Given the description of an element on the screen output the (x, y) to click on. 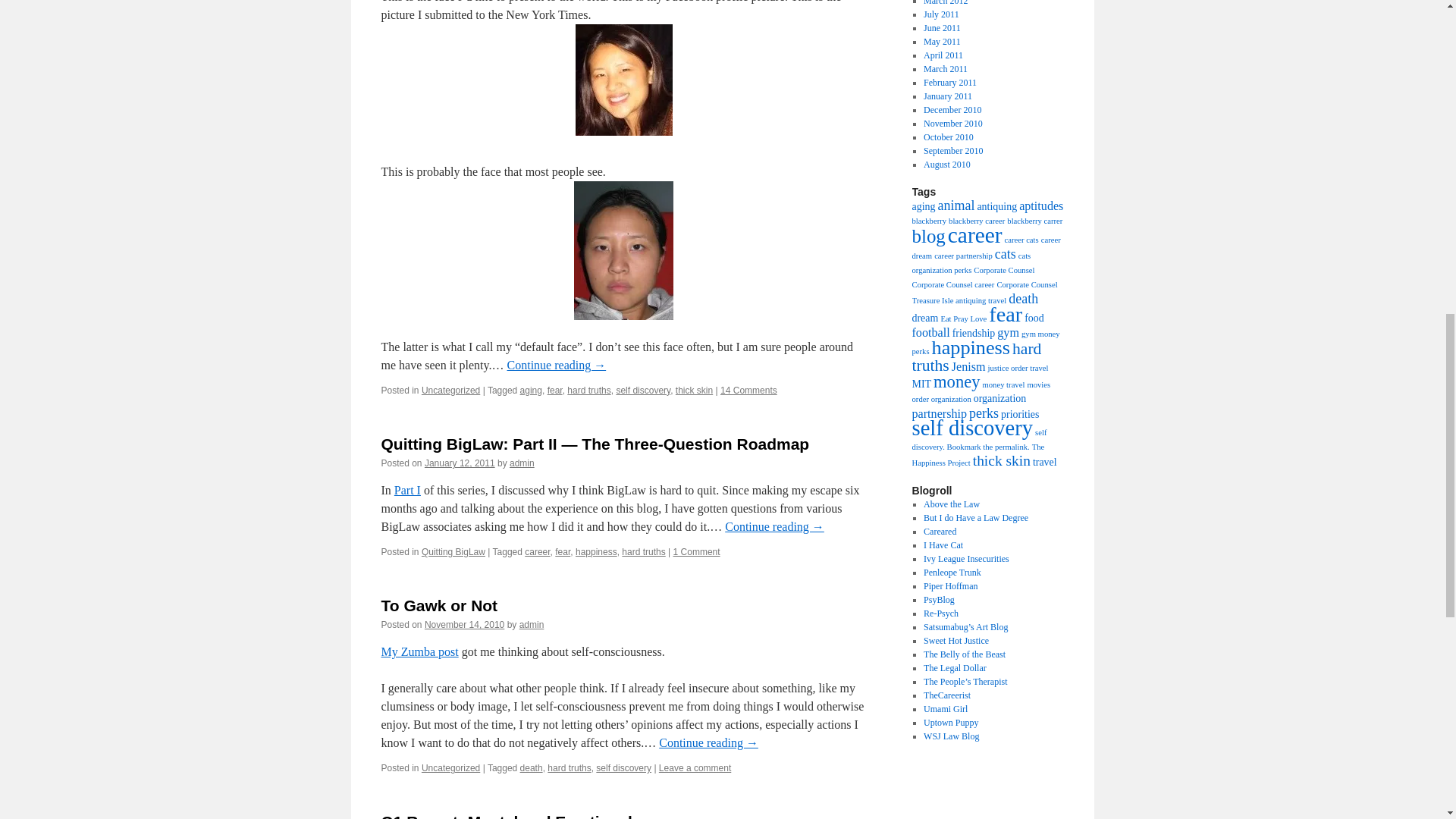
14 Comments (748, 389)
aging (530, 389)
View all posts by admin (531, 624)
View all posts by admin (521, 462)
Uncategorized (451, 389)
fear (554, 389)
thick skin (694, 389)
4:42 am (464, 624)
admin (521, 462)
self discovery (642, 389)
hard truths (588, 389)
4:20 am (460, 462)
January 12, 2011 (460, 462)
